Given the description of an element on the screen output the (x, y) to click on. 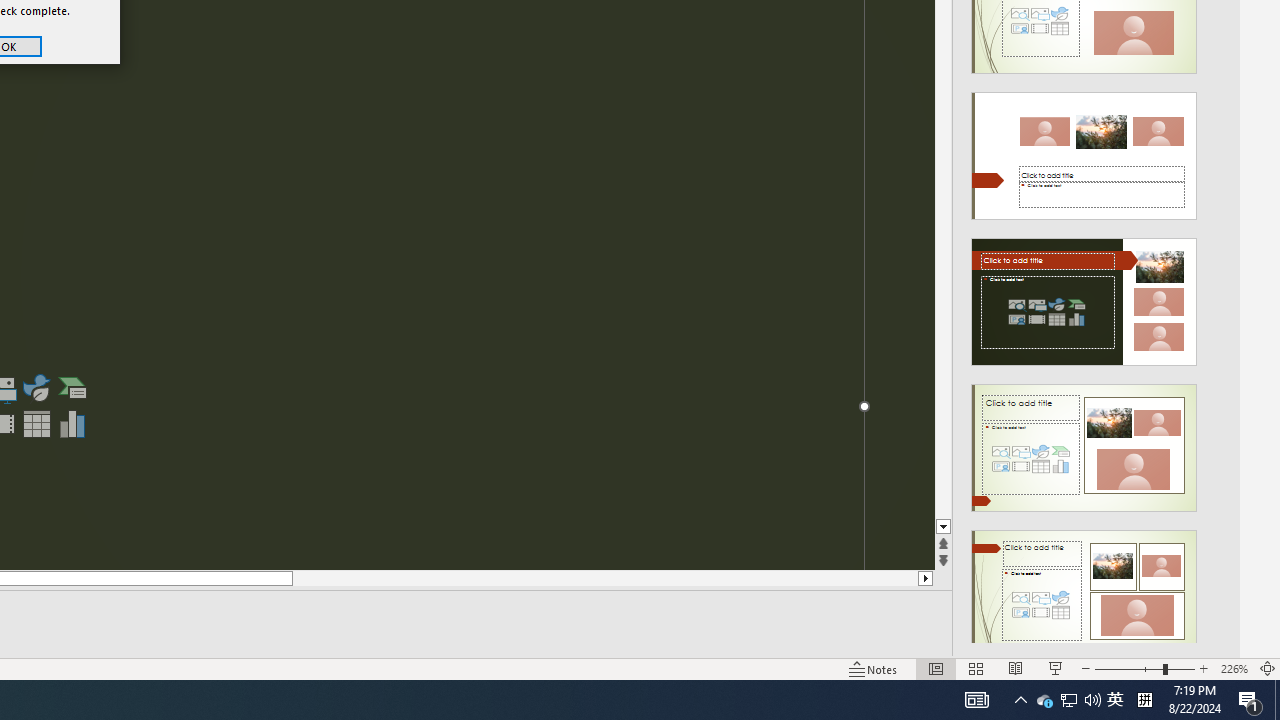
Insert Chart (73, 423)
Insert a SmartArt Graphic (73, 387)
